Given the description of an element on the screen output the (x, y) to click on. 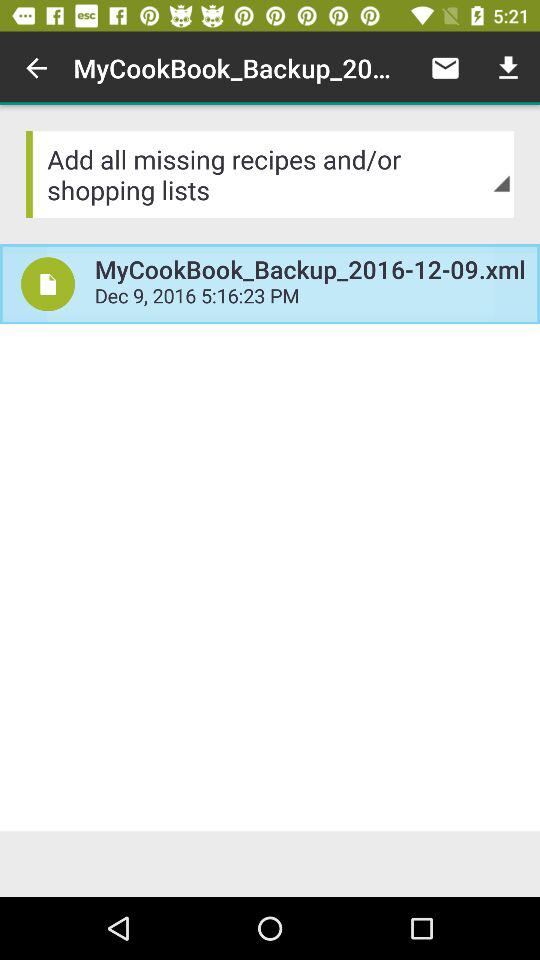
turn off dec 9 2016 icon (309, 298)
